Given the description of an element on the screen output the (x, y) to click on. 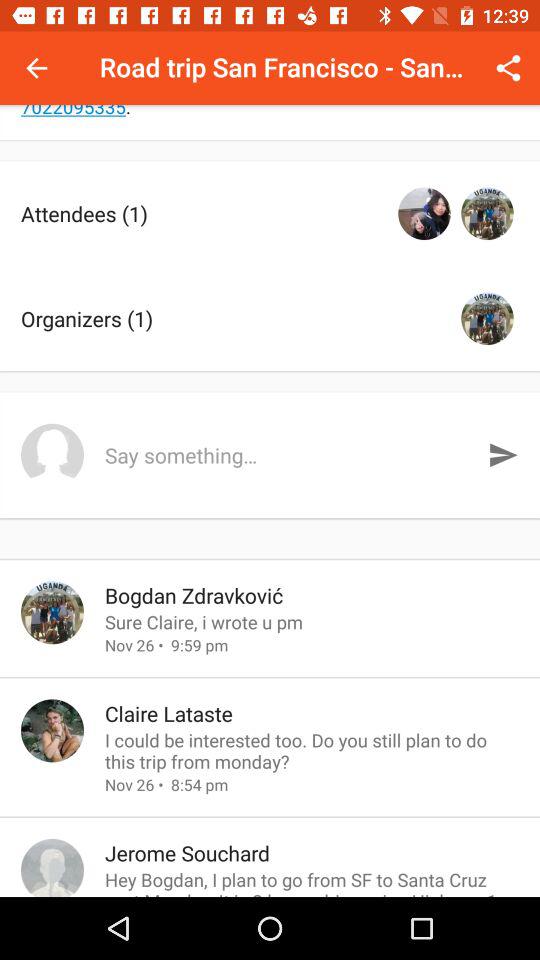
jump to the i could be icon (312, 750)
